Given the description of an element on the screen output the (x, y) to click on. 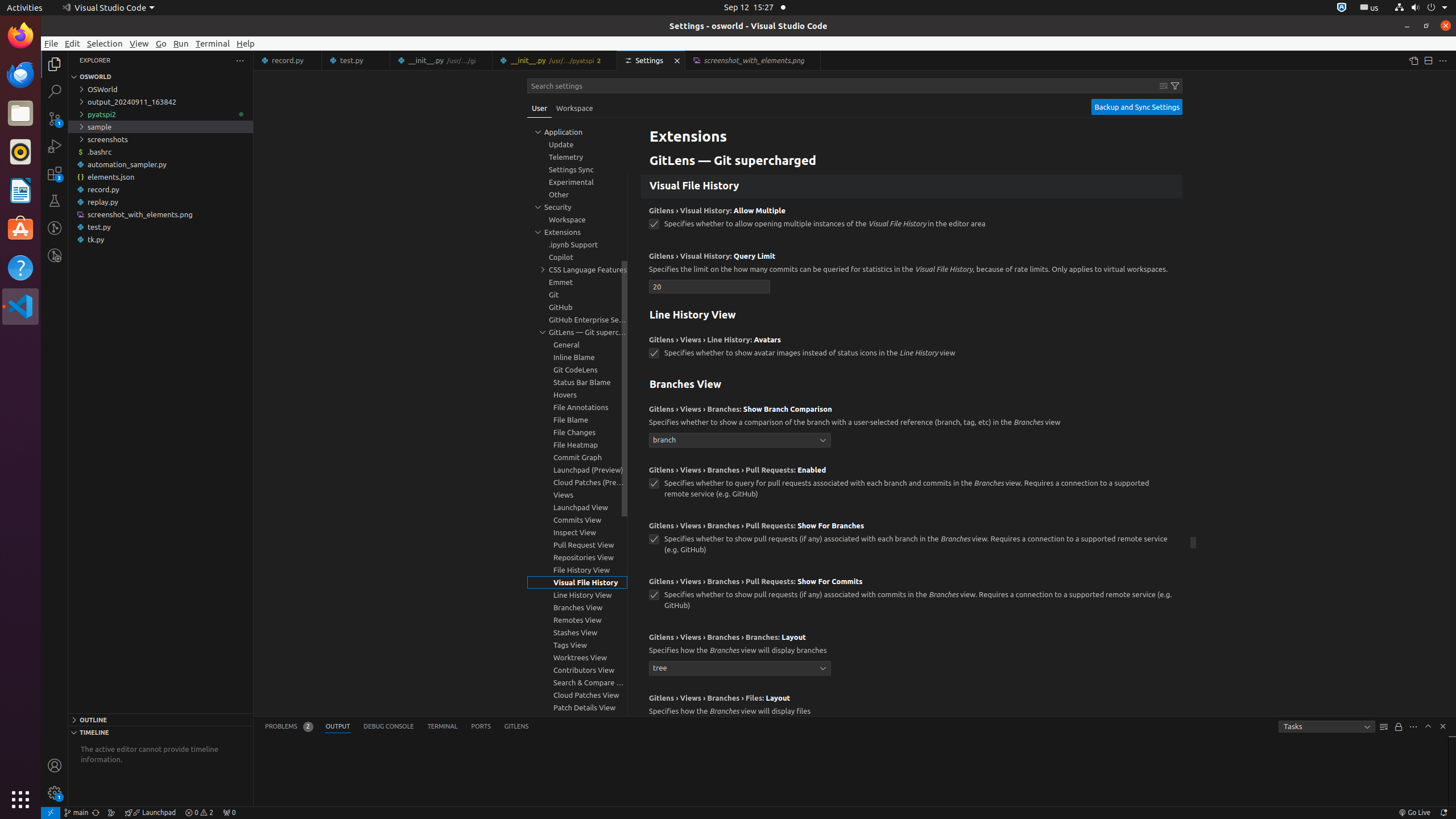
Views, group Element type: tree-item (577, 494)
Debug Console (Ctrl+Shift+Y) Element type: page-tab (388, 726)
Explorer Section: osworld Element type: push-button (160, 76)
Line History View Element type: tree-item (911, 315)
